Given the description of an element on the screen output the (x, y) to click on. 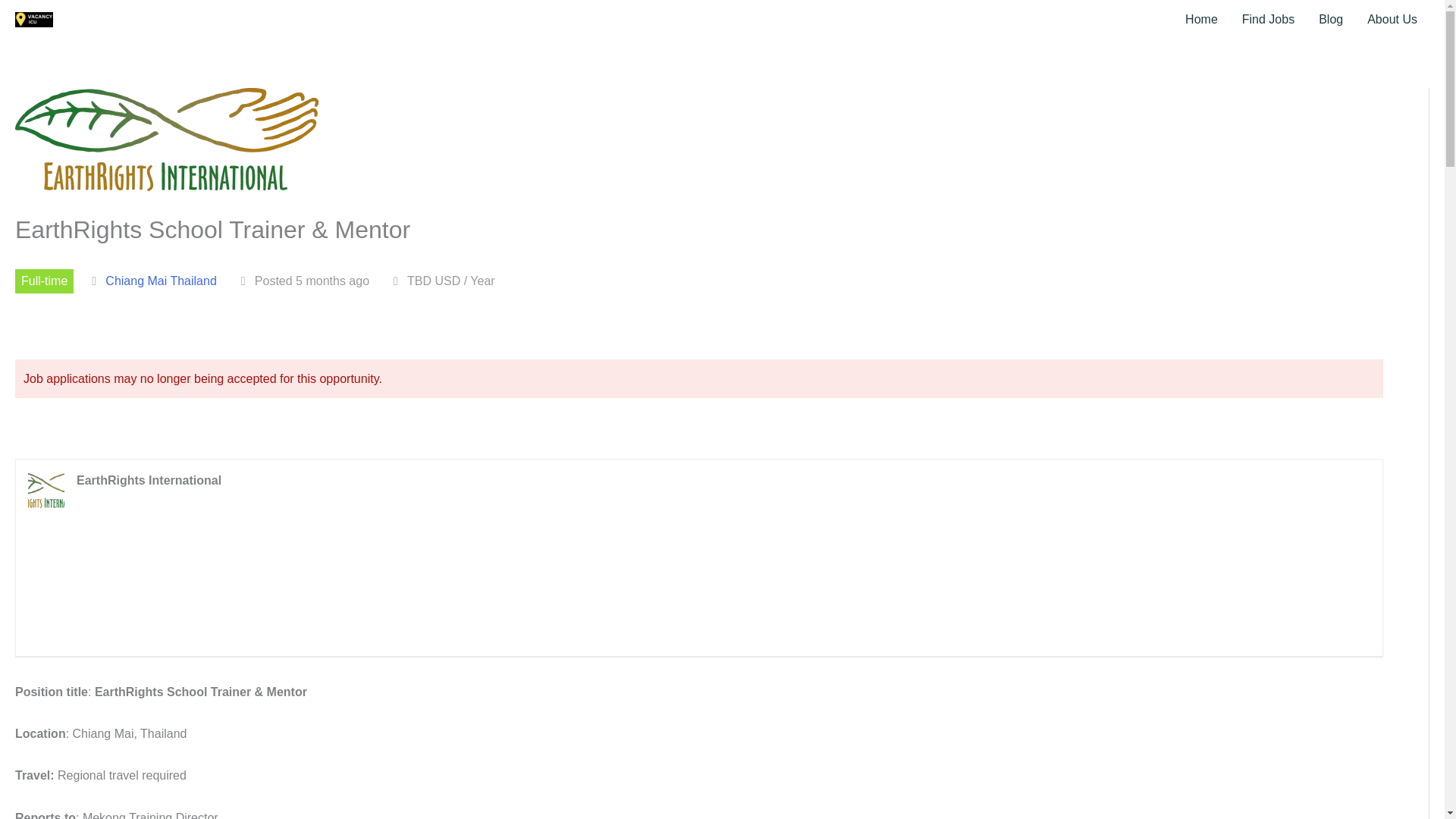
Find Jobs (1268, 19)
Home (1201, 19)
Blog (1330, 19)
Chiang Mai Thailand (159, 280)
About Us (1392, 19)
